Given the description of an element on the screen output the (x, y) to click on. 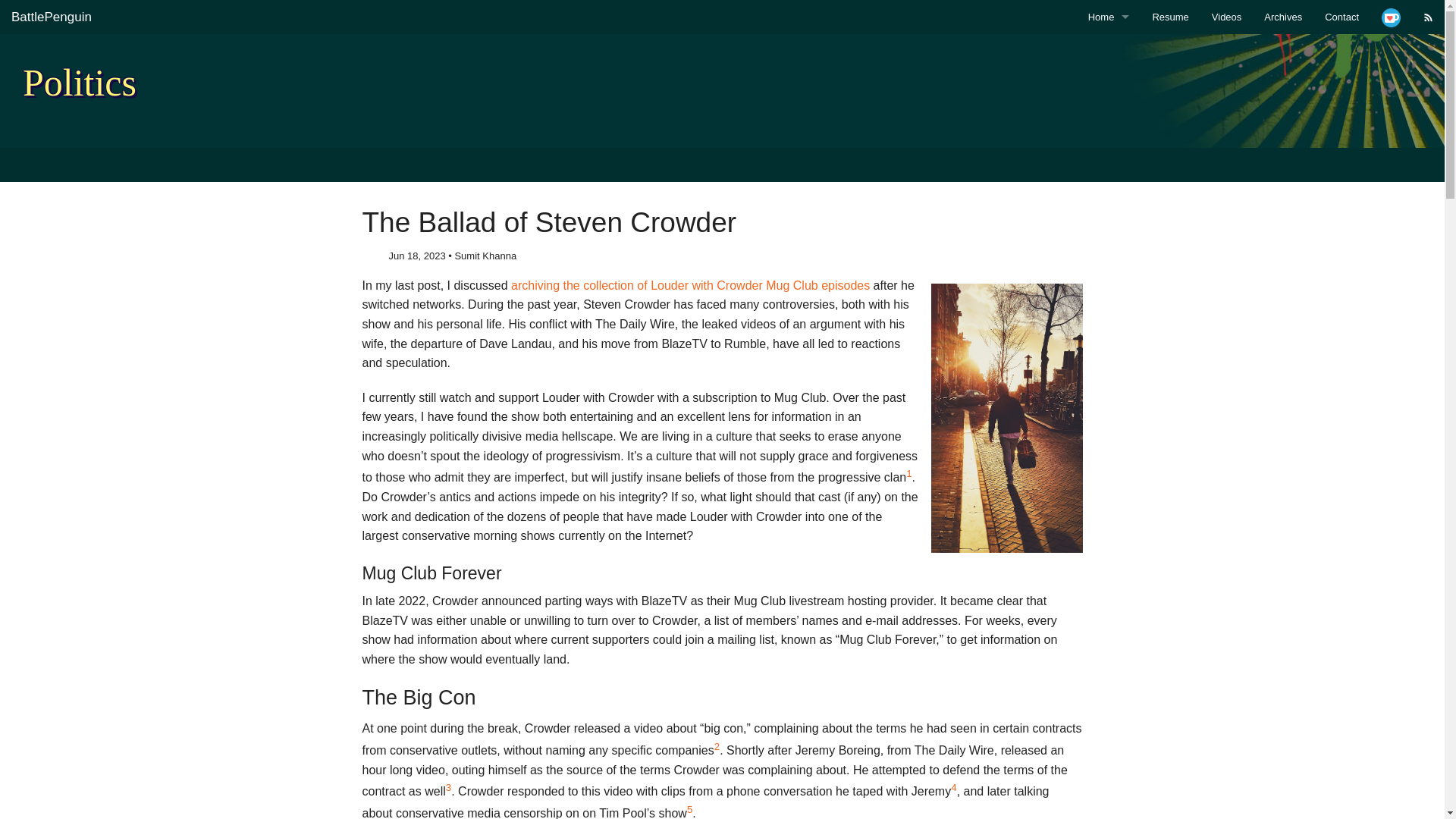
Home (1109, 17)
Politics (1109, 119)
Technology (1109, 50)
People (1044, 153)
Resume (1169, 17)
Assignments (1044, 50)
Scripts (1044, 84)
Gaming (1109, 187)
Projects (1044, 119)
BattlePenguin (51, 17)
Poetry (1109, 153)
Perspective (1044, 187)
Buy Me a Coffee (1390, 17)
Philosophy (1109, 84)
